Given the description of an element on the screen output the (x, y) to click on. 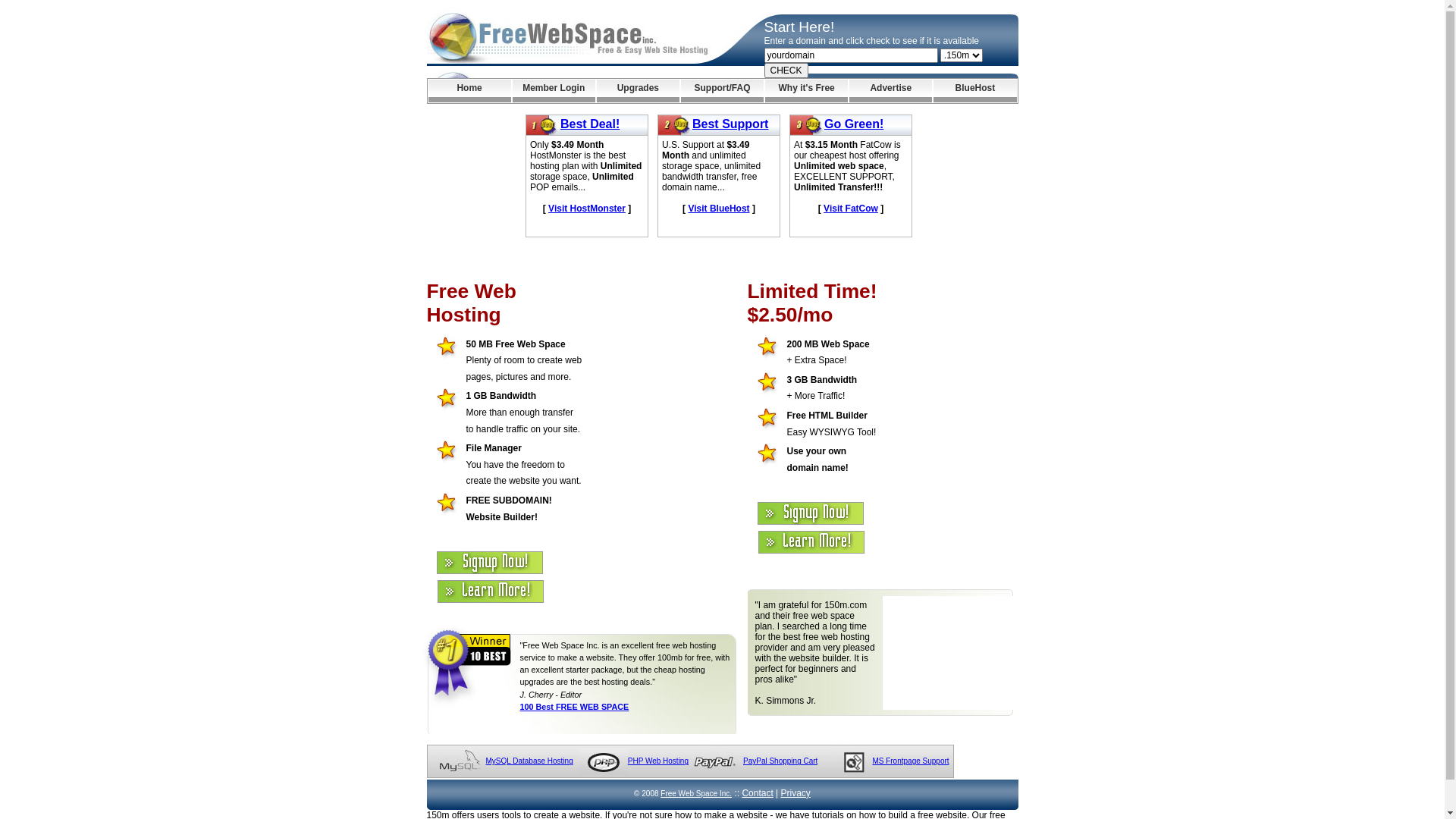
BlueHost Element type: text (974, 90)
CHECK Element type: text (786, 70)
Free Web Space Inc. Element type: text (695, 793)
Contact Element type: text (756, 792)
PayPal Shopping Cart Element type: text (780, 760)
Privacy Element type: text (795, 792)
Member Login Element type: text (553, 90)
MySQL Database Hosting Element type: text (528, 760)
100 Best FREE WEB SPACE Element type: text (574, 706)
Upgrades Element type: text (637, 90)
Home Element type: text (468, 90)
Support/FAQ Element type: text (721, 90)
Advertise Element type: text (890, 90)
MS Frontpage Support Element type: text (910, 760)
PHP Web Hosting Element type: text (657, 760)
Why it's Free Element type: text (806, 90)
